Given the description of an element on the screen output the (x, y) to click on. 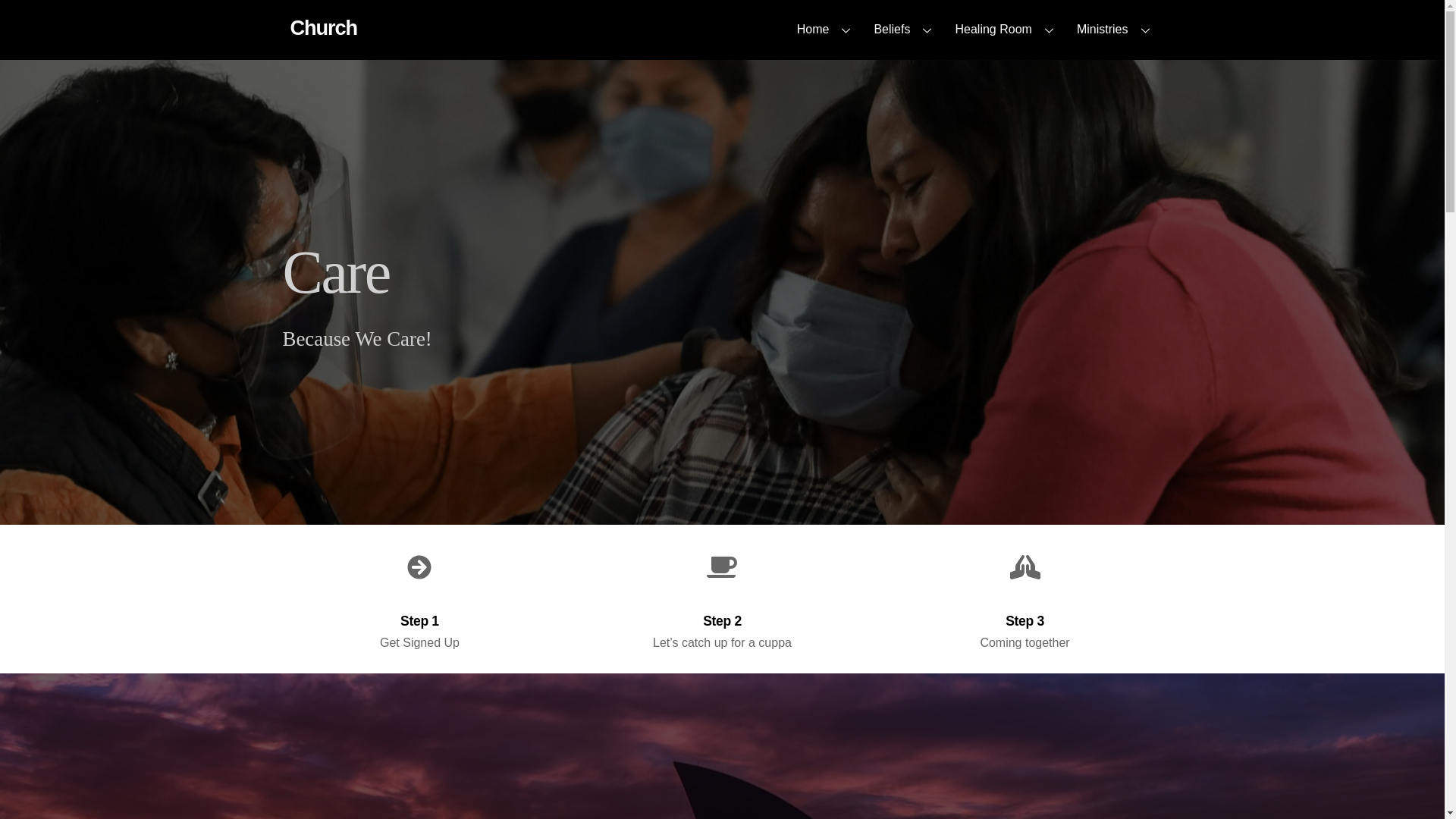
Healing Room (1006, 29)
Beliefs (905, 29)
Church (721, 29)
Home (322, 27)
Ministries (826, 29)
Church (1114, 29)
